Given the description of an element on the screen output the (x, y) to click on. 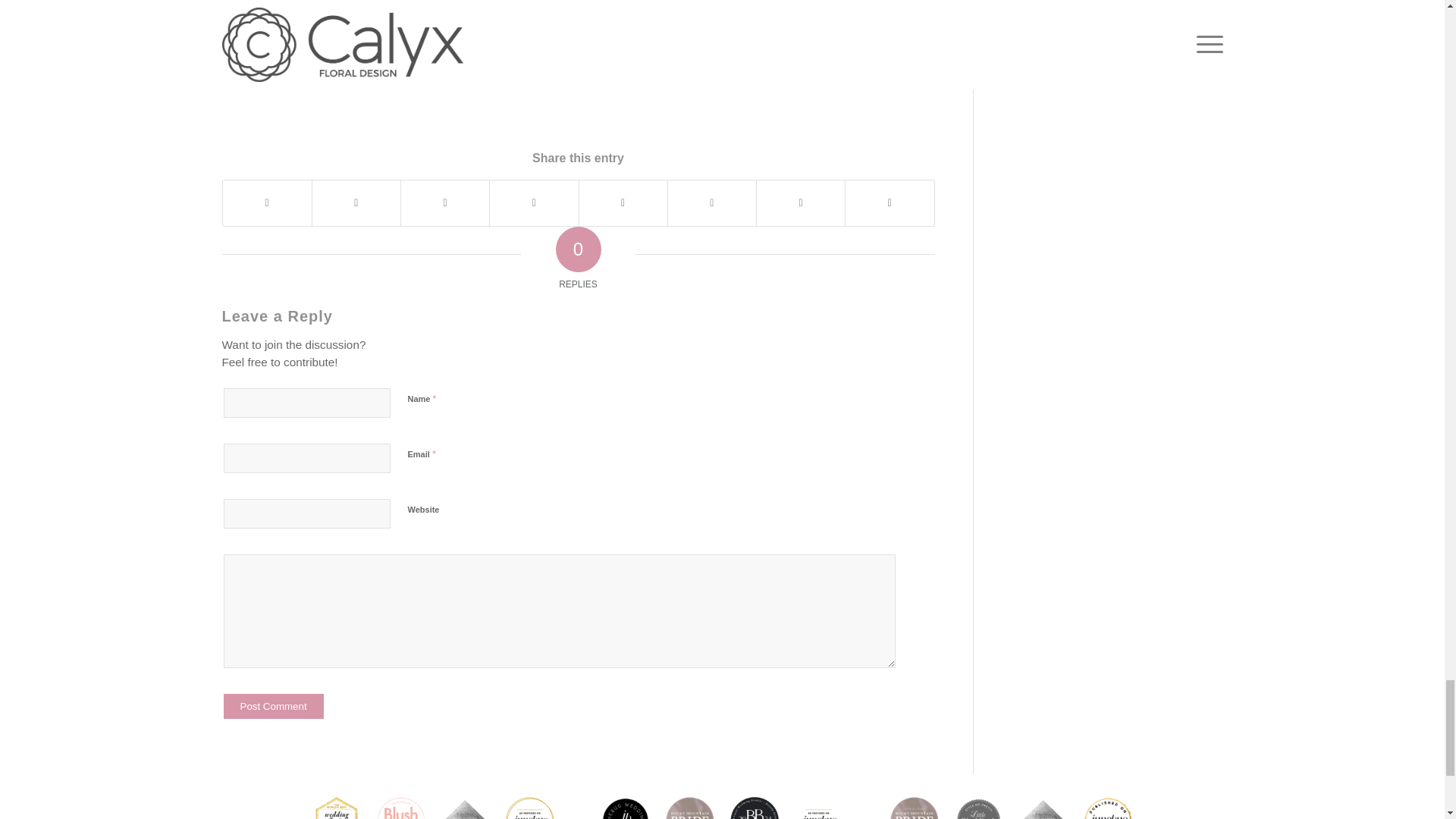
Post Comment (272, 706)
Click me (829, 63)
Post Comment (272, 706)
